Given the description of an element on the screen output the (x, y) to click on. 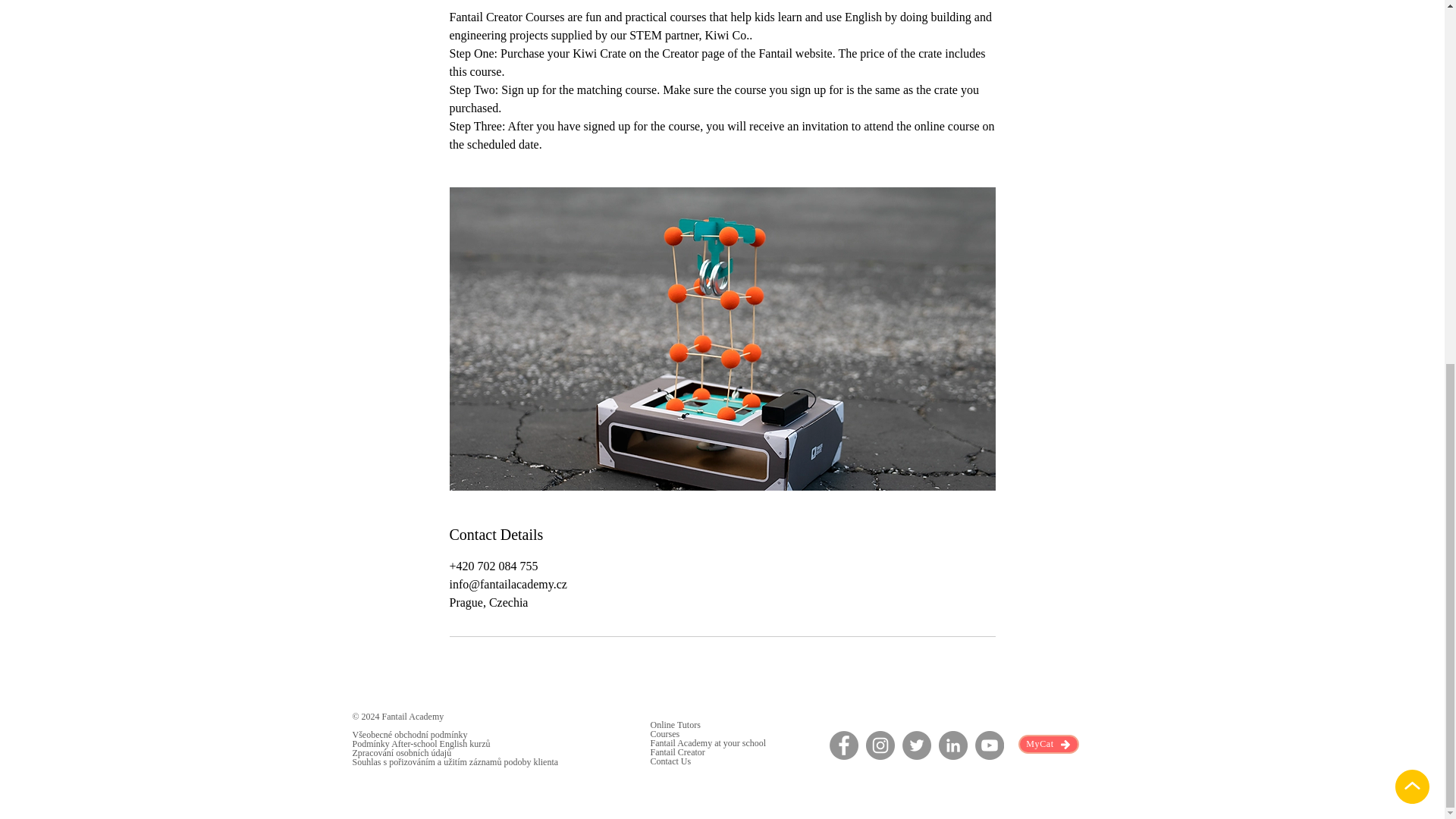
Courses (664, 733)
Fantail Academy at your school (708, 742)
Fantail Creator (677, 751)
Online Tutors (675, 724)
